Given the description of an element on the screen output the (x, y) to click on. 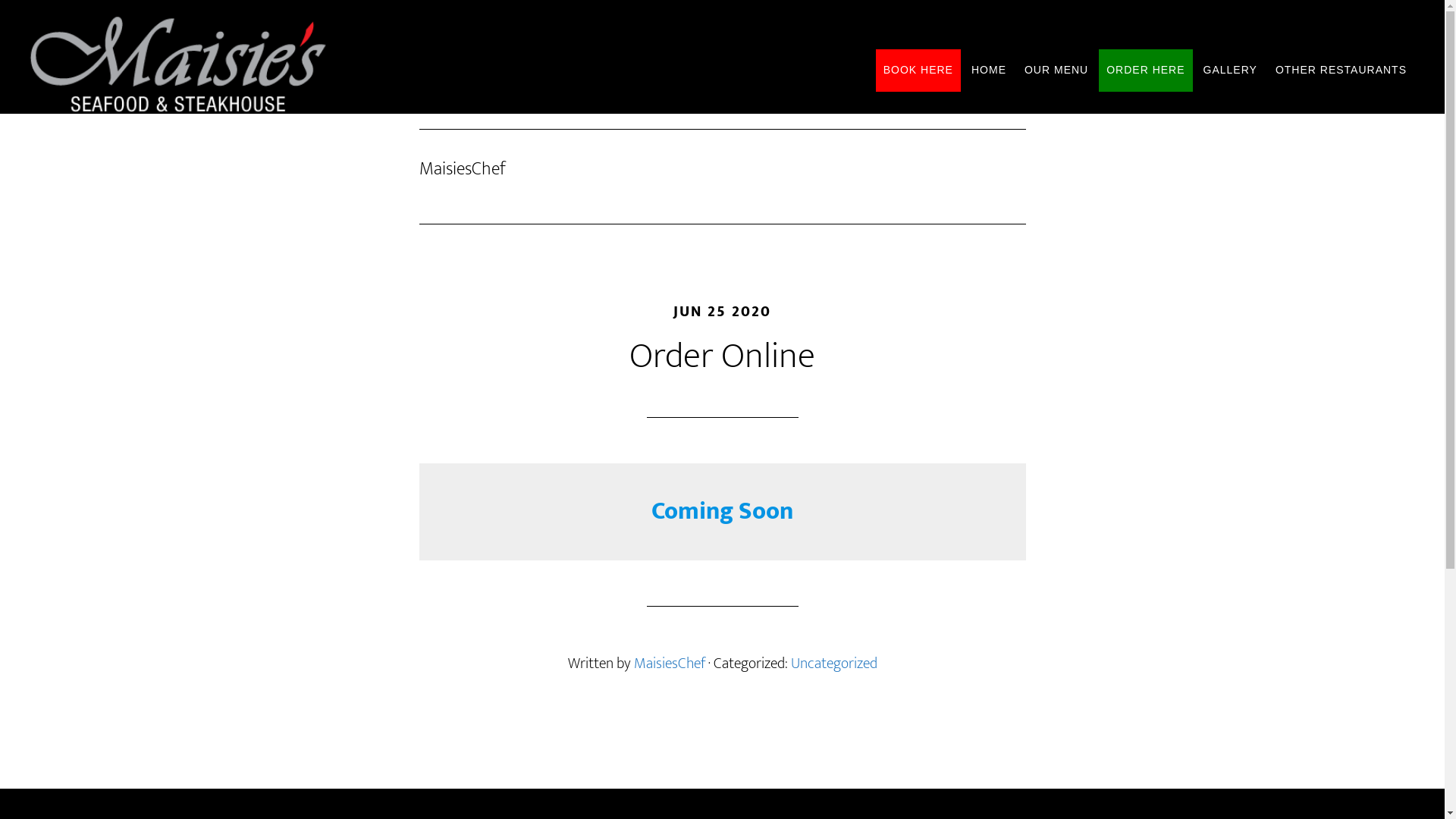
ORDER HERE Element type: text (1145, 70)
MaisiesChef Element type: text (669, 663)
OTHER RESTAURANTS Element type: text (1340, 70)
GALLERY Element type: text (1229, 70)
BOOK HERE Element type: text (917, 70)
HOME Element type: text (988, 70)
Skip to main content Element type: text (0, 0)
Uncategorized Element type: text (833, 663)
Order Online Element type: text (722, 356)
MAISIES SEAFOOD AND STEAKHOUSE Element type: text (204, 64)
OUR MENU Element type: text (1055, 70)
